Given the description of an element on the screen output the (x, y) to click on. 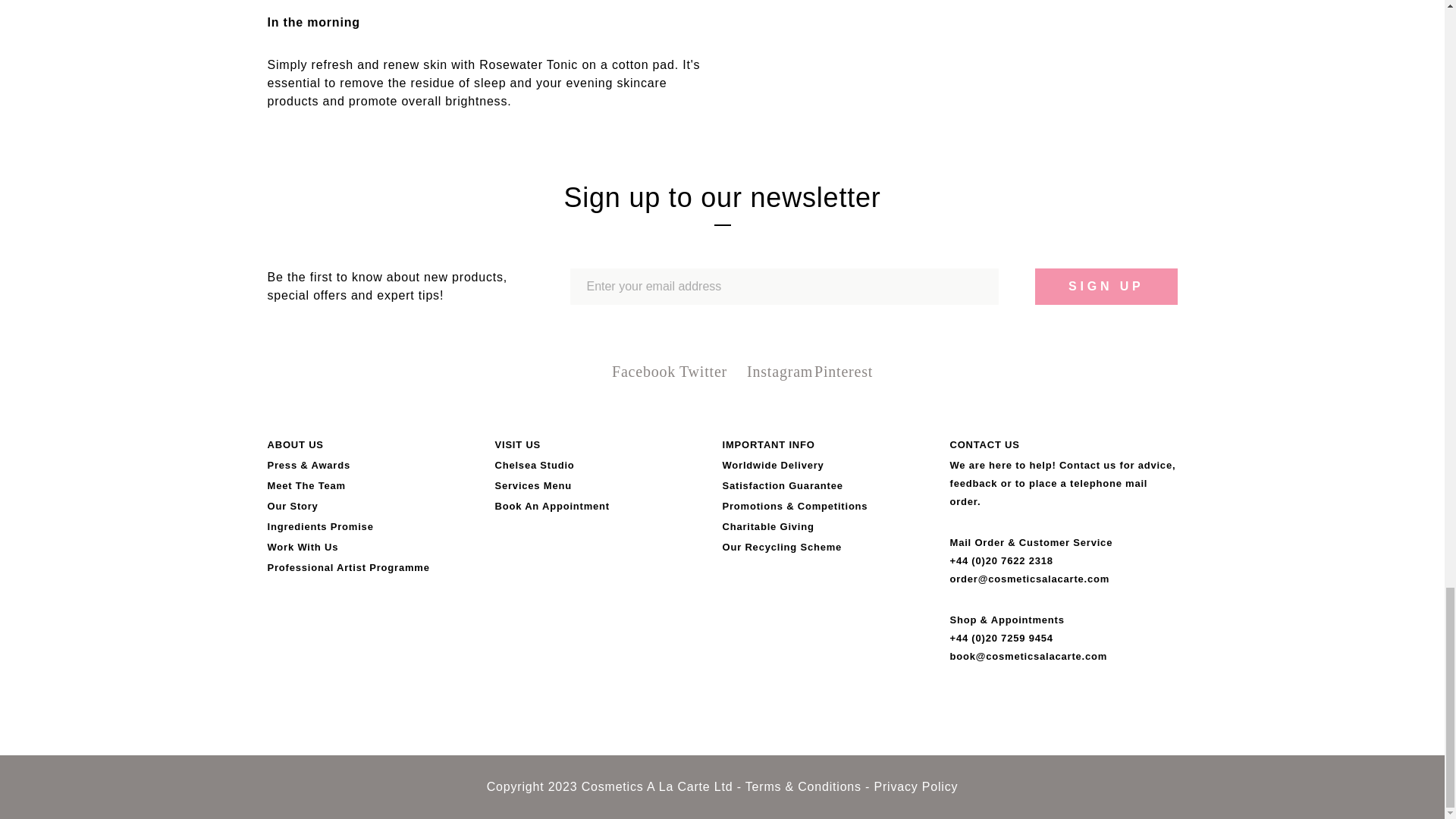
Sign up (1105, 286)
